Given the description of an element on the screen output the (x, y) to click on. 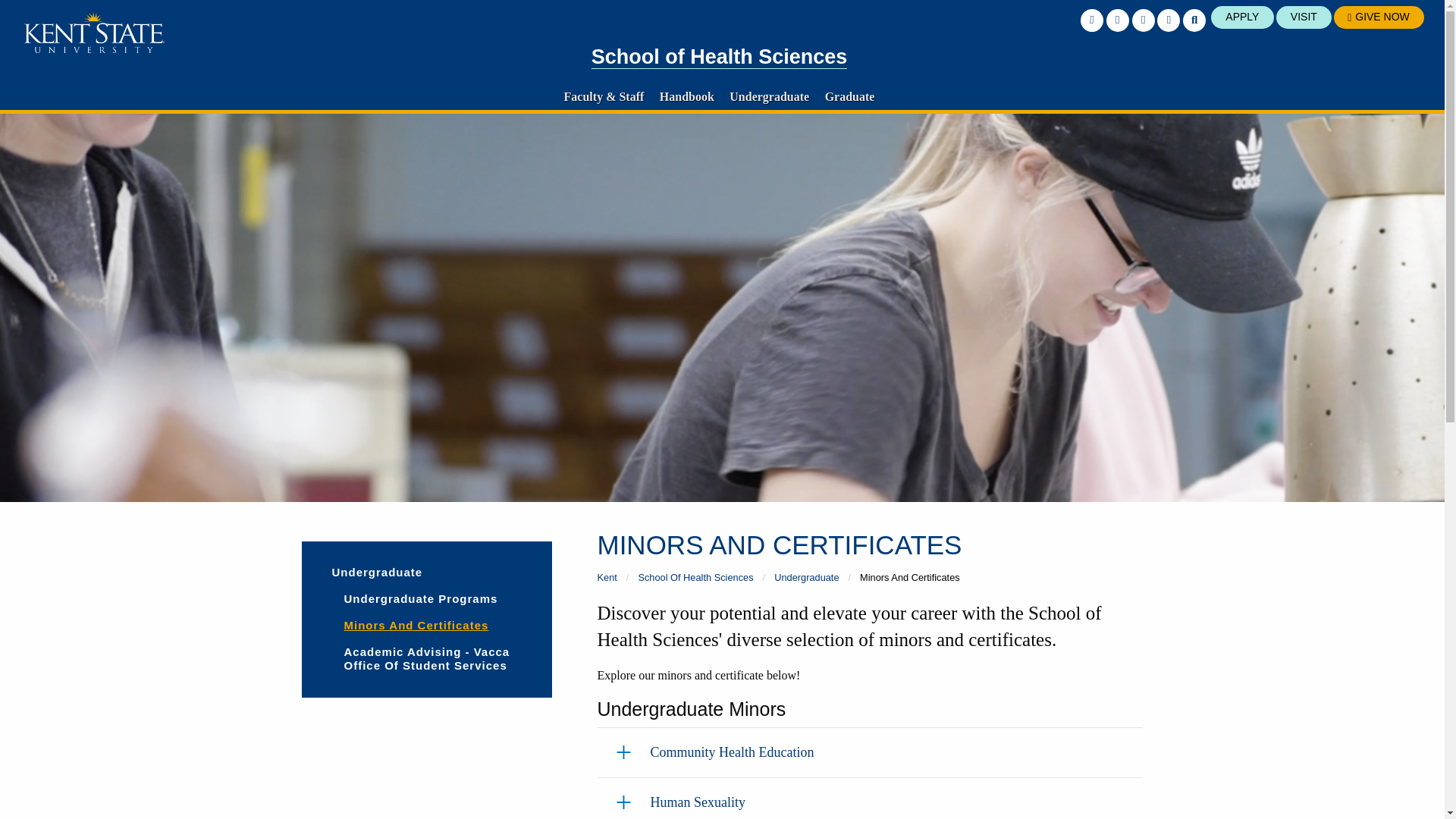
Kent State University logo (94, 32)
School of Health Sciences (719, 56)
GIVE NOW (1378, 16)
APPLY (1241, 16)
Handbook (686, 96)
VISIT (1304, 16)
Undergraduate (769, 96)
